Given the description of an element on the screen output the (x, y) to click on. 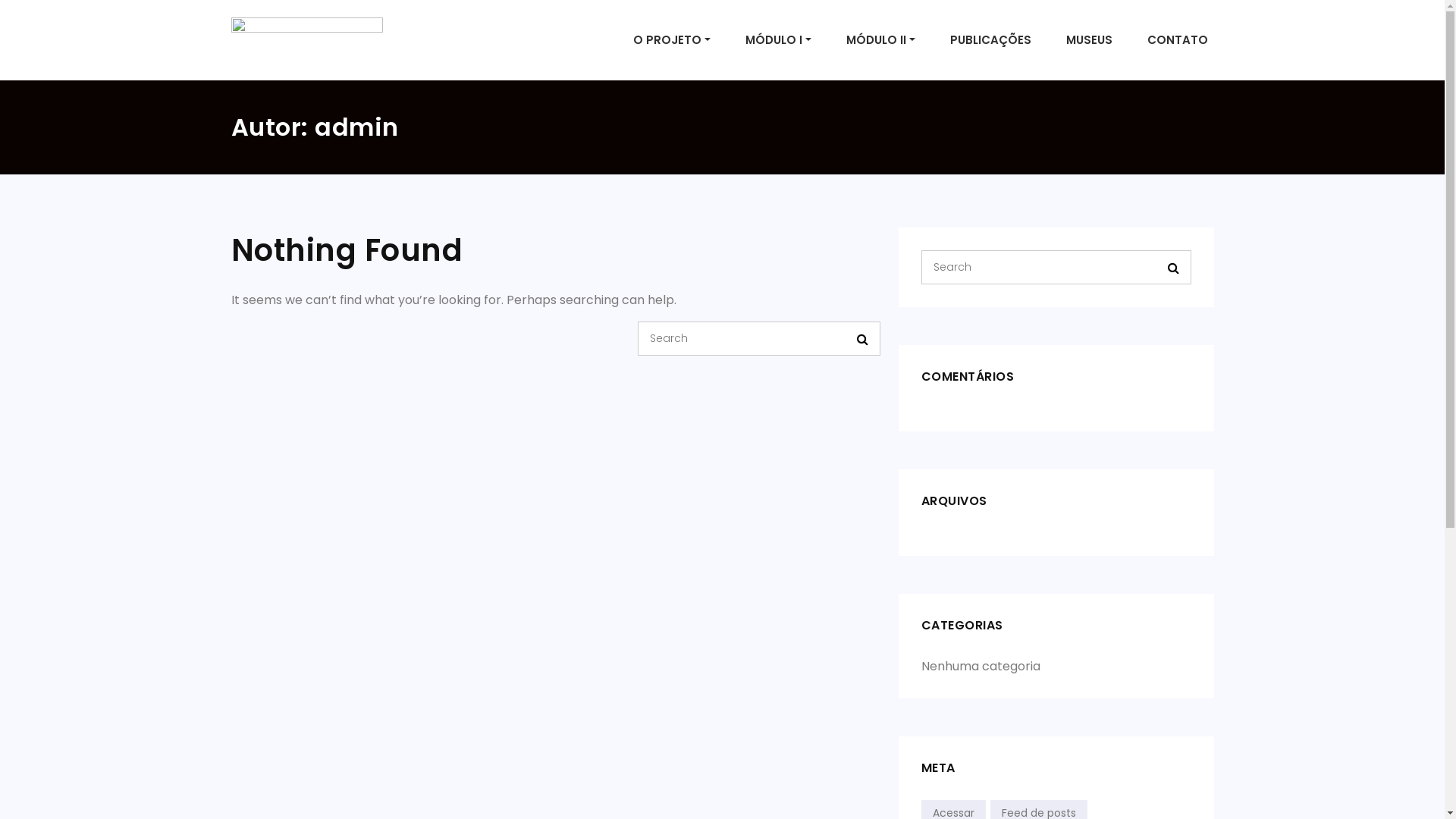
MUSEUS Element type: text (1089, 40)
CONTATO Element type: text (1176, 40)
O PROJETO Element type: text (671, 40)
